Given the description of an element on the screen output the (x, y) to click on. 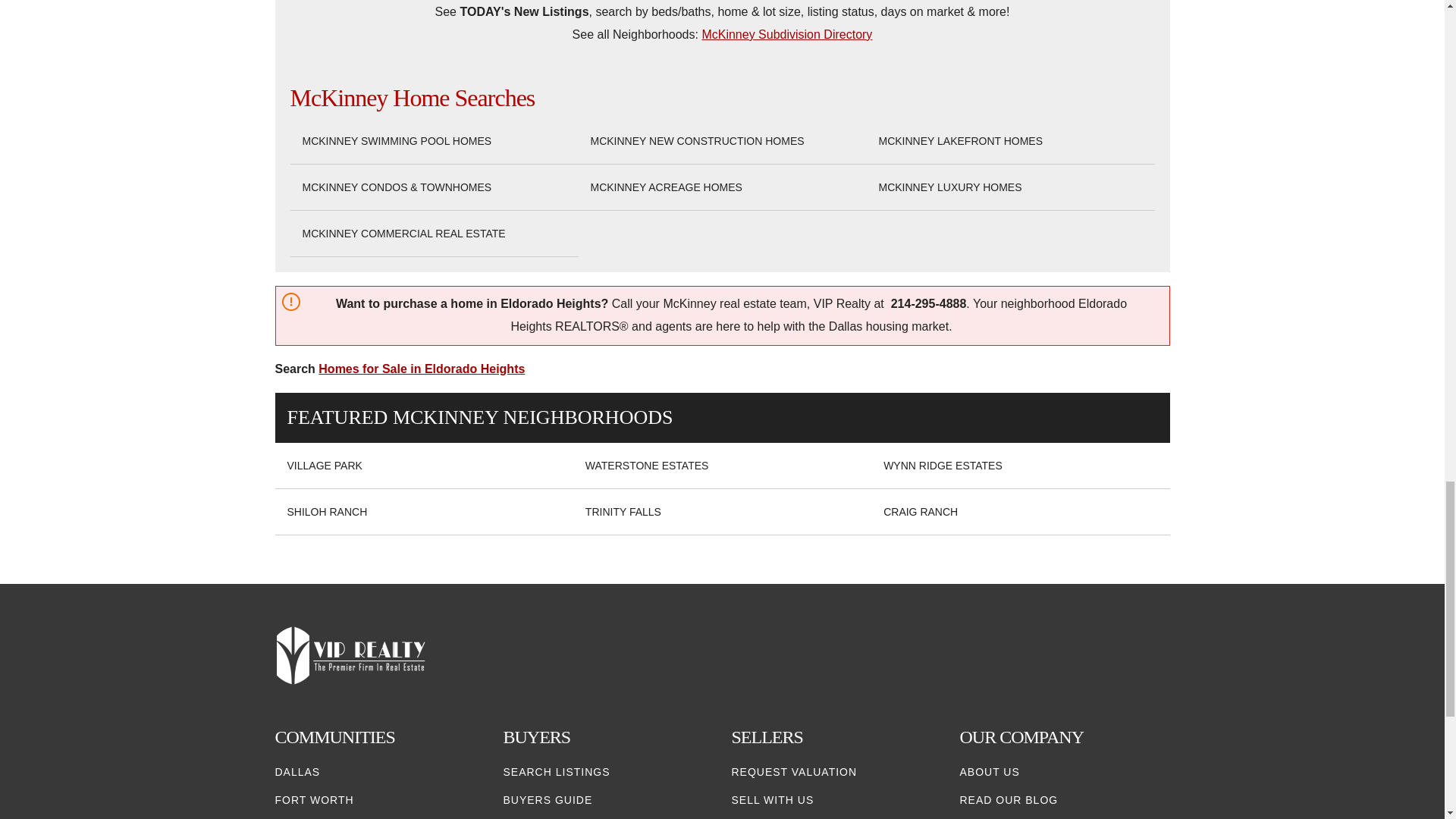
McKinney Lakefront Homes (959, 141)
McKinney Condos Townhomes (396, 187)
McKinney Luxury Homes (949, 187)
McKinney New Construction Homes (696, 141)
McKinney Commercial Real Estate (403, 233)
McKinney Acreage Homes (665, 187)
McKinney Swimming Pool Homes (396, 141)
